Given the description of an element on the screen output the (x, y) to click on. 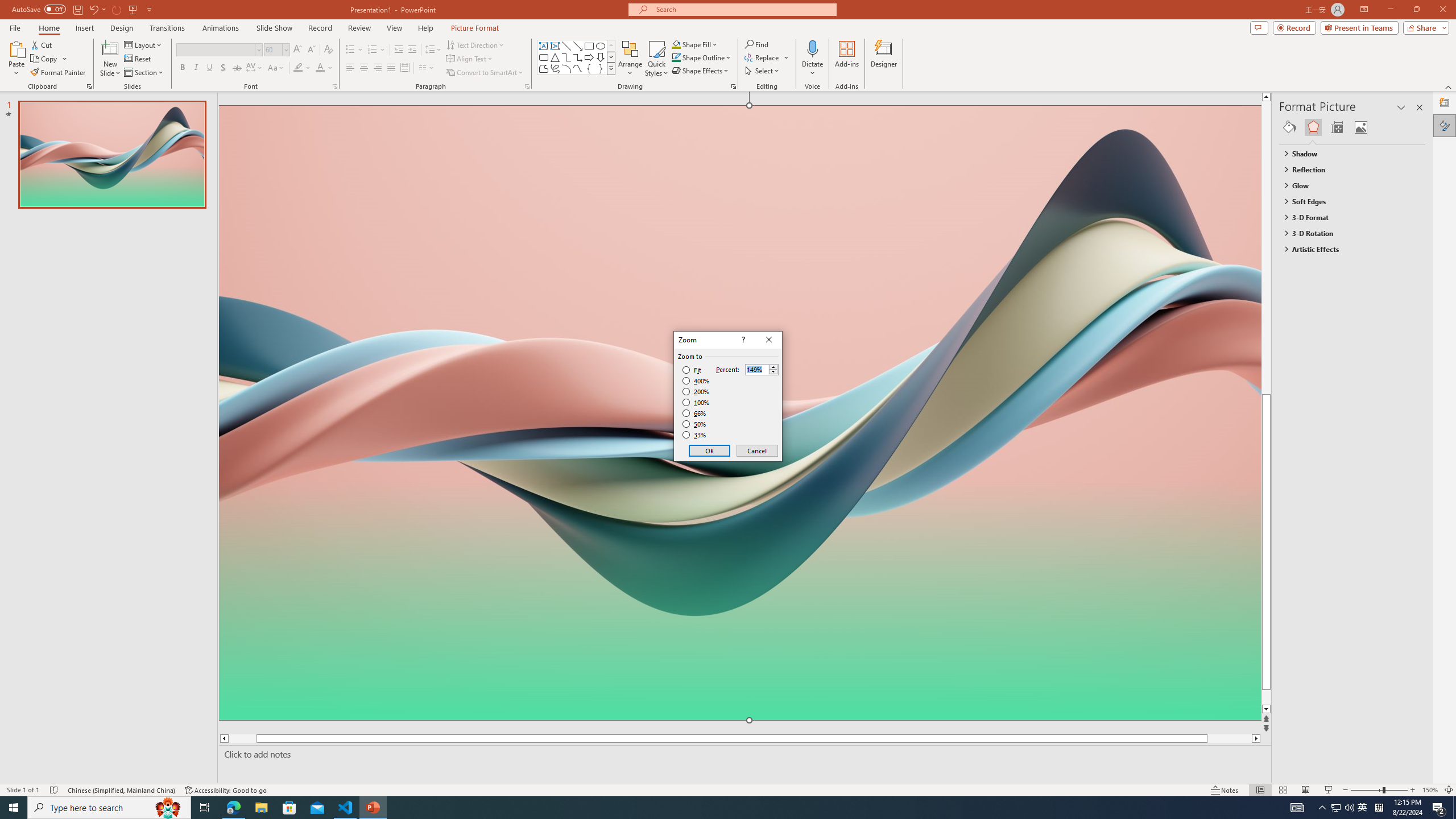
Picture Format (475, 28)
Class: NetUIScrollBar (1420, 460)
50% (694, 424)
